Given the description of an element on the screen output the (x, y) to click on. 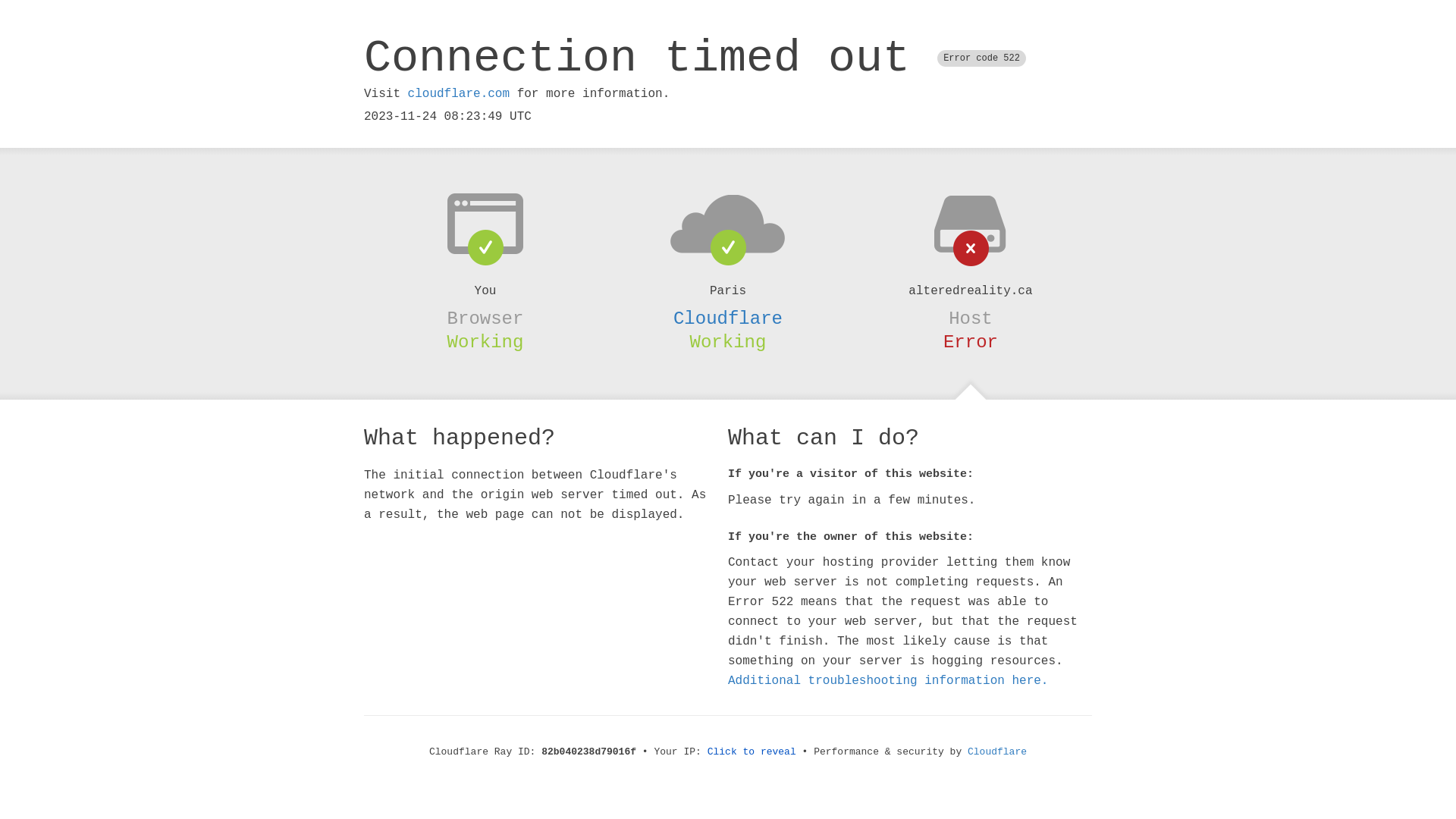
Cloudflare Element type: text (727, 318)
Additional troubleshooting information here. Element type: text (888, 680)
Click to reveal Element type: text (751, 751)
Cloudflare Element type: text (996, 751)
cloudflare.com Element type: text (458, 93)
